Given the description of an element on the screen output the (x, y) to click on. 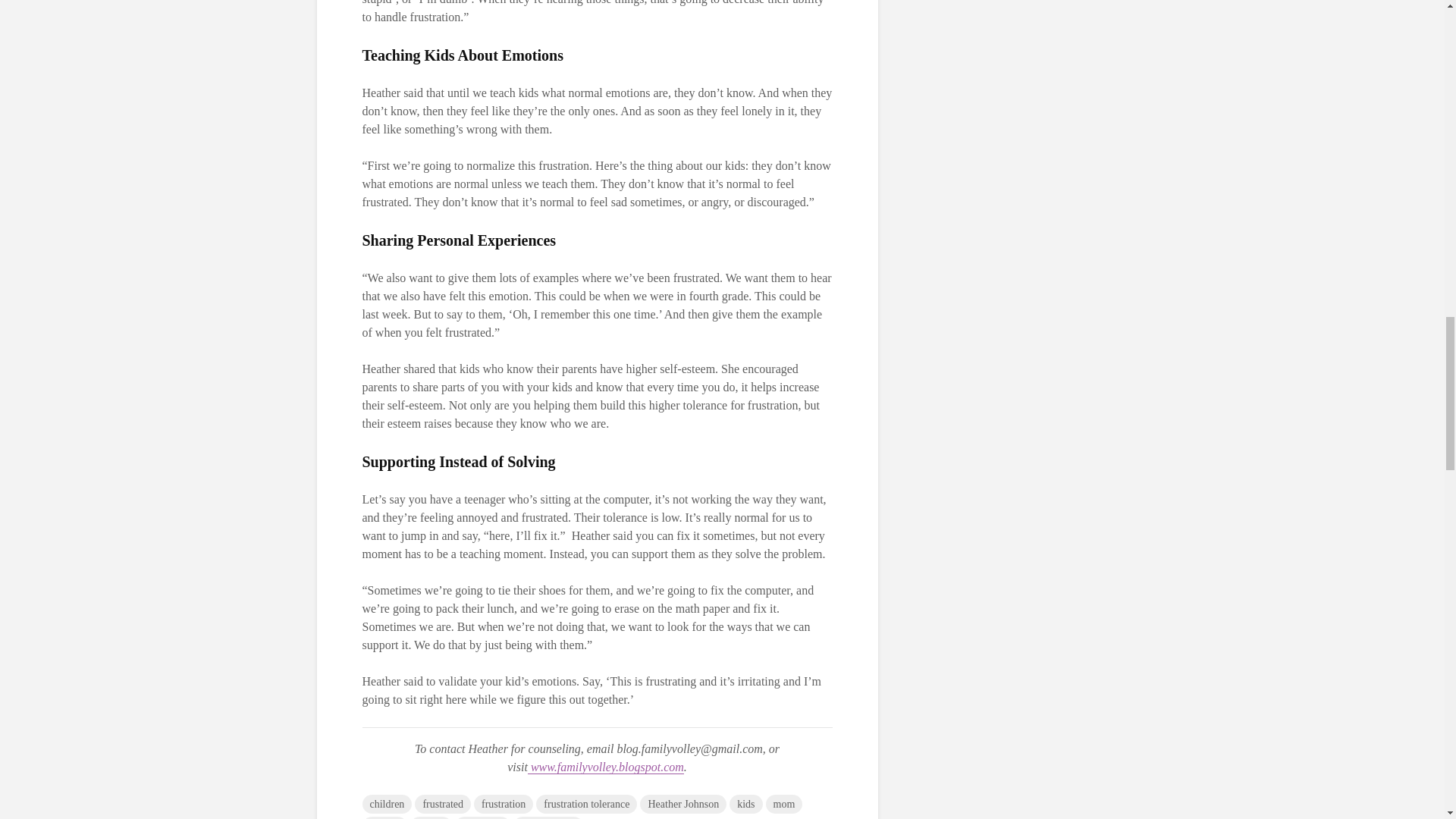
frustration tolerance (586, 804)
mom (784, 804)
mother (384, 817)
parenting (482, 817)
Heather Johnson (683, 804)
 www.familyvolley.blogspot.com (605, 766)
frustration (503, 804)
frustrated (442, 804)
kids (745, 804)
relationships (548, 817)
children (387, 804)
parent (430, 817)
